Given the description of an element on the screen output the (x, y) to click on. 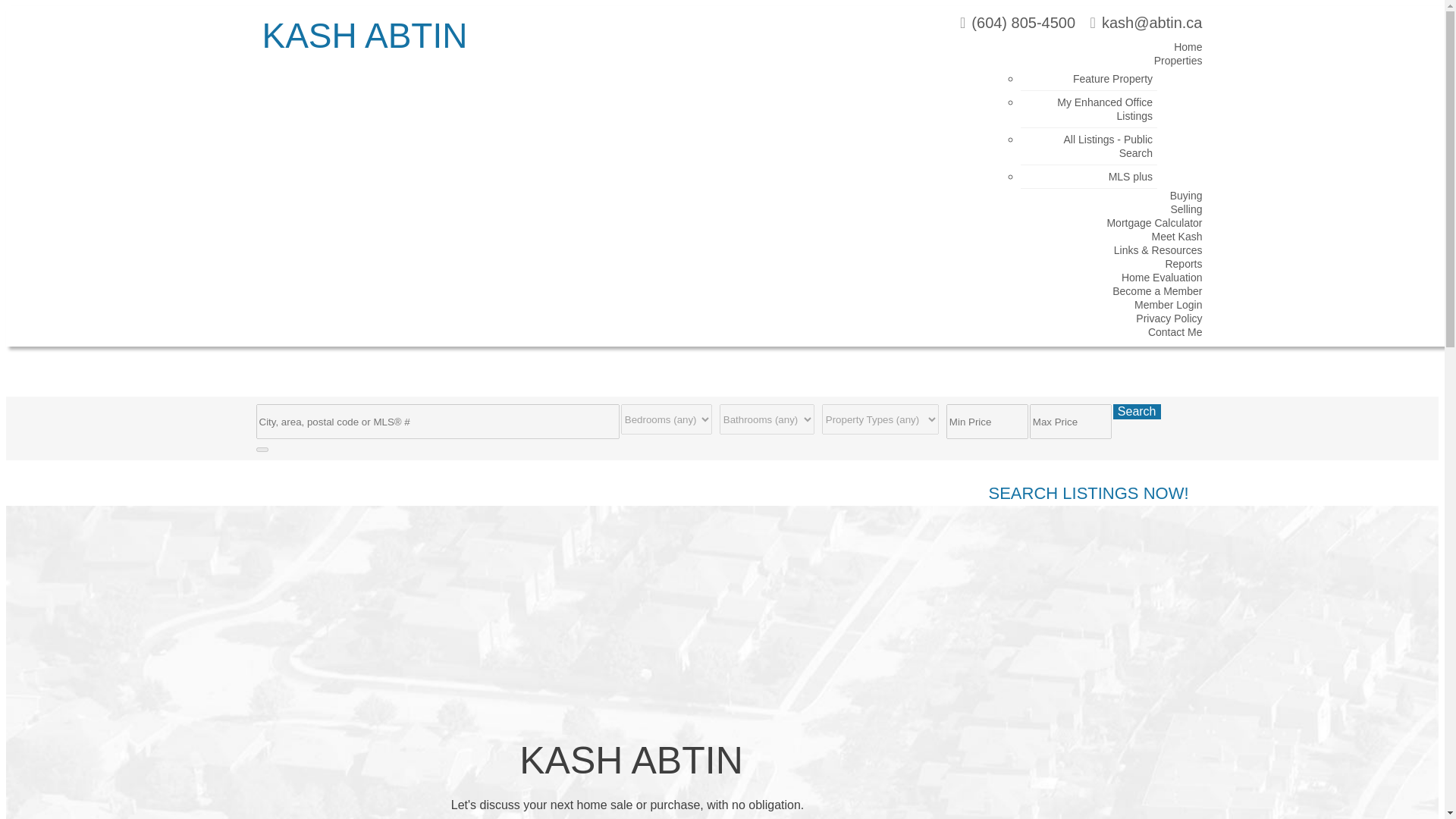
Meet Kash (1169, 239)
Canyon Heights NV, North Vancouver Real Estate (440, 594)
My Enhanced Office Listings (1097, 111)
Search (1136, 411)
Reports (1176, 266)
Become a Member (1149, 294)
Mortgage Calculator (1146, 226)
RSS (263, 515)
See details here (295, 635)
All Listings - Public Search (1100, 149)
